Given the description of an element on the screen output the (x, y) to click on. 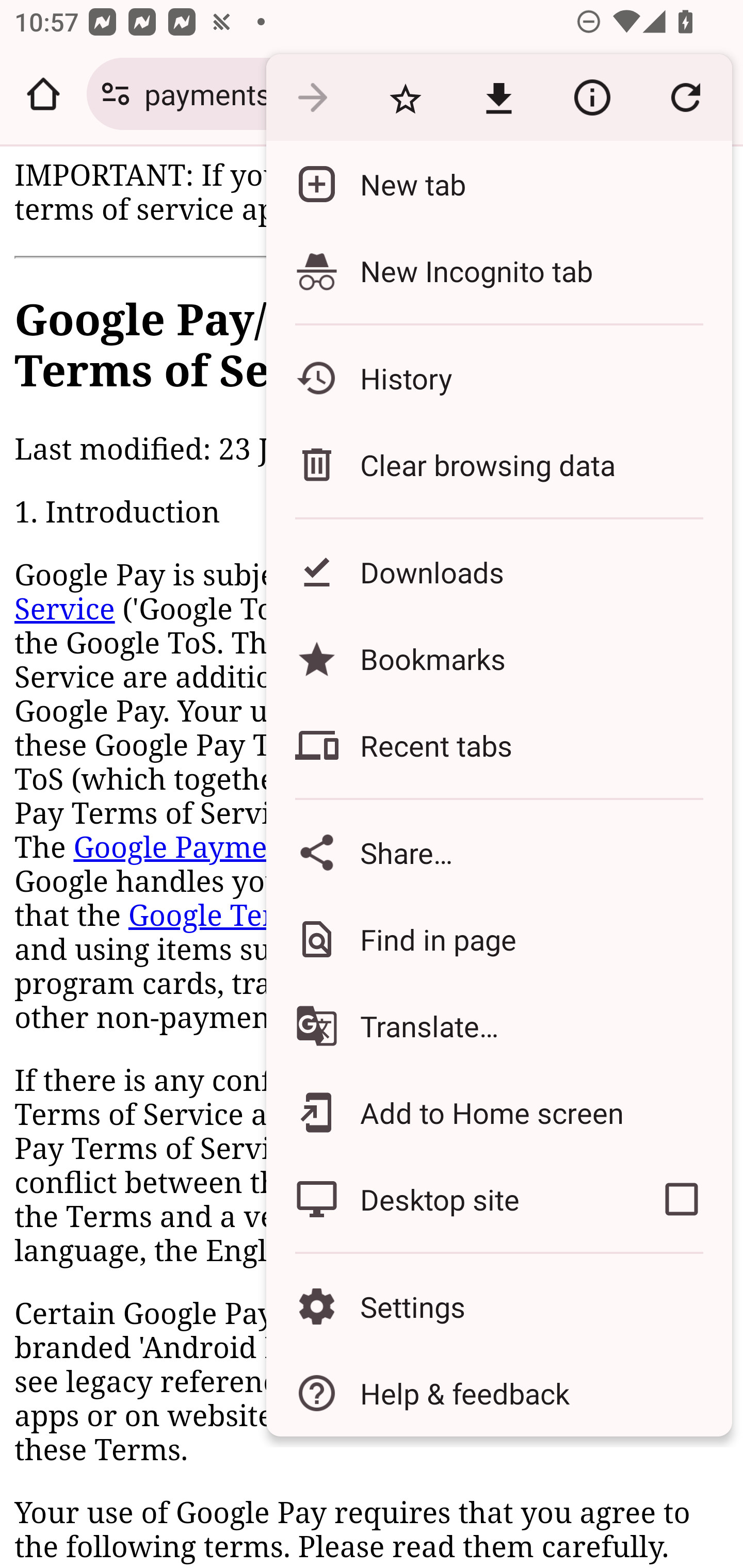
Forward (311, 97)
Bookmark (404, 97)
Download (498, 97)
Page info (591, 97)
Refresh (684, 97)
New tab (498, 184)
New Incognito tab (498, 270)
History (498, 377)
Clear browsing data (498, 464)
Downloads (498, 571)
Bookmarks (498, 658)
Recent tabs (498, 745)
Share… (498, 852)
Find in page (498, 939)
Translate… (498, 1026)
Add to Home screen (498, 1112)
Desktop site Turn on Request desktop site (447, 1198)
Settings (498, 1306)
Help & feedback (498, 1393)
